Given the description of an element on the screen output the (x, y) to click on. 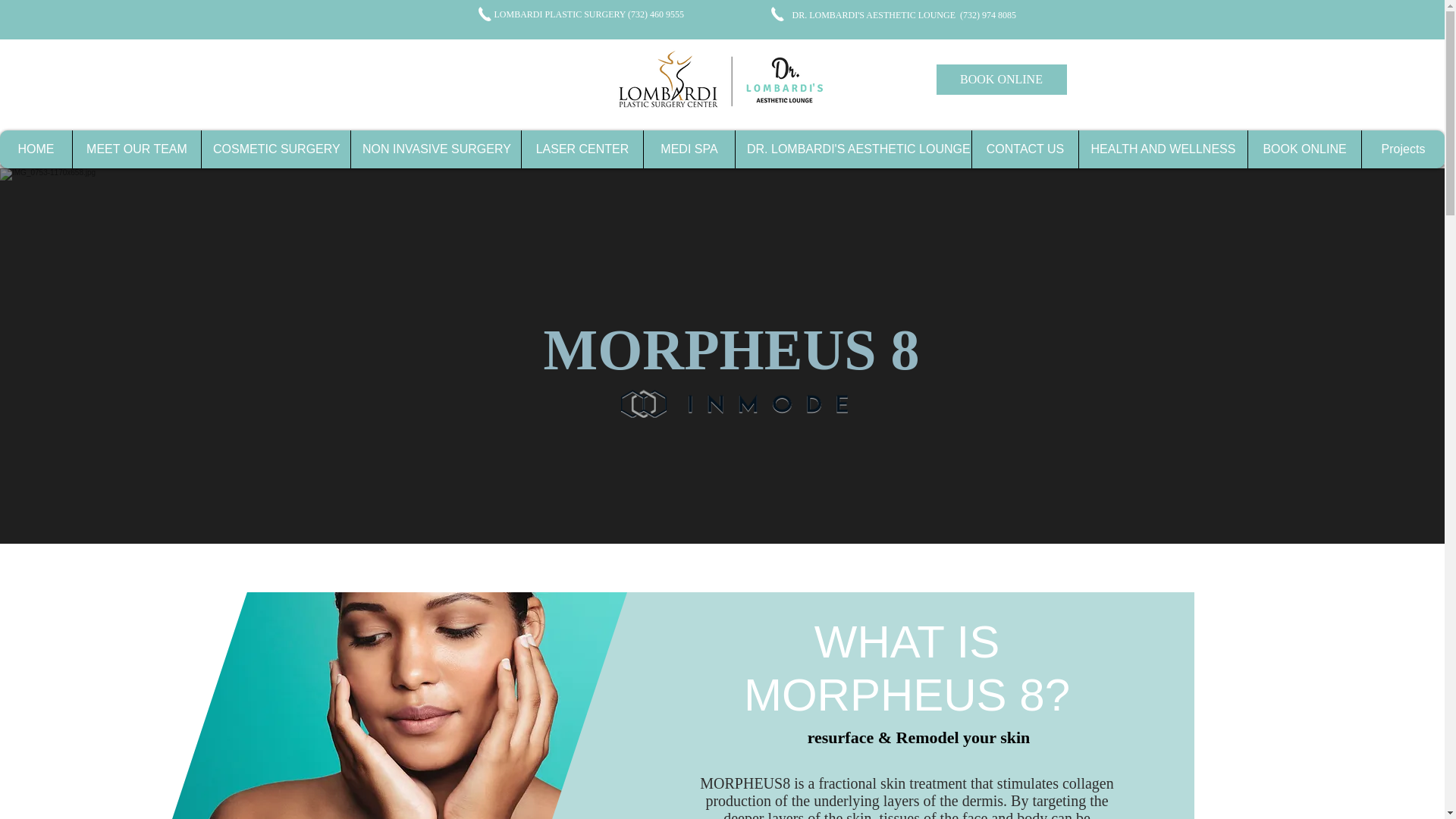
COSMETIC SURGERY (275, 149)
NON INVASIVE SURGERY (435, 149)
BOOK ONLINE (1000, 79)
HOME (35, 149)
LASER CENTER (582, 149)
MEET OUR TEAM (135, 149)
